Given the description of an element on the screen output the (x, y) to click on. 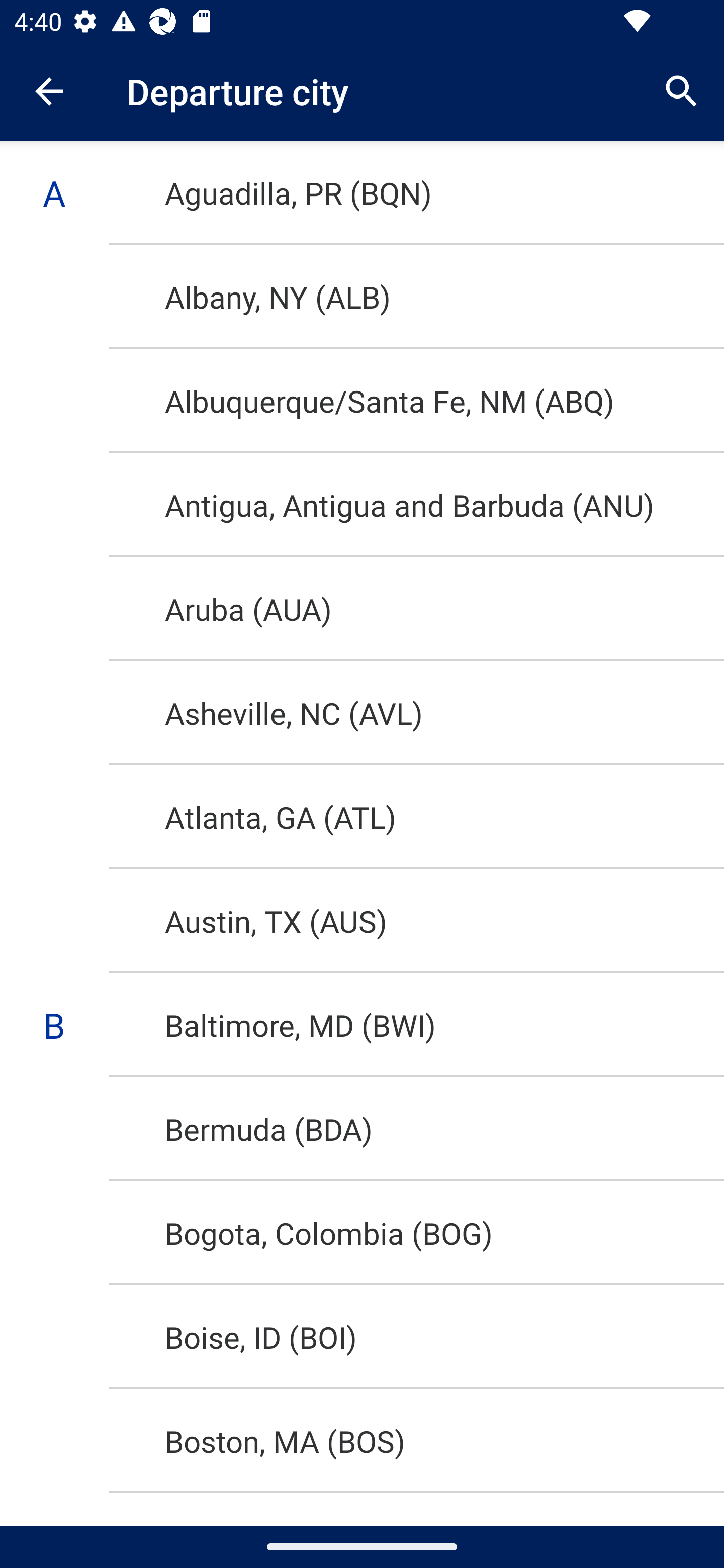
Navigate up (49, 91)
Search (681, 90)
Aguadilla, PR (BQN)  Aguadilla, PR (BQN) @{ (362, 192)
Albany, NY (ALB)  Albany, NY (ALB) @{ (362, 296)
Aruba (AUA) Mint Aruba (AUA) @{ (362, 608)
Asheville, NC (AVL)  Asheville, NC (AVL) @{ (362, 712)
Atlanta, GA (ATL)  Atlanta, GA (ATL) @{ (362, 816)
Austin, TX (AUS)  Austin, TX (AUS) @{ (362, 920)
Baltimore, MD (BWI)  Baltimore, MD (BWI) @{ (362, 1025)
Bermuda (BDA)  Bermuda (BDA) @{ (362, 1128)
Bogota, Colombia (BOG)  Bogota, Colombia (BOG) @{ (362, 1232)
Boise, ID (BOI)  Boise, ID (BOI) @{ (362, 1337)
Boston, MA (BOS) Mint Boston, MA (BOS) @{ (362, 1440)
